Given the description of an element on the screen output the (x, y) to click on. 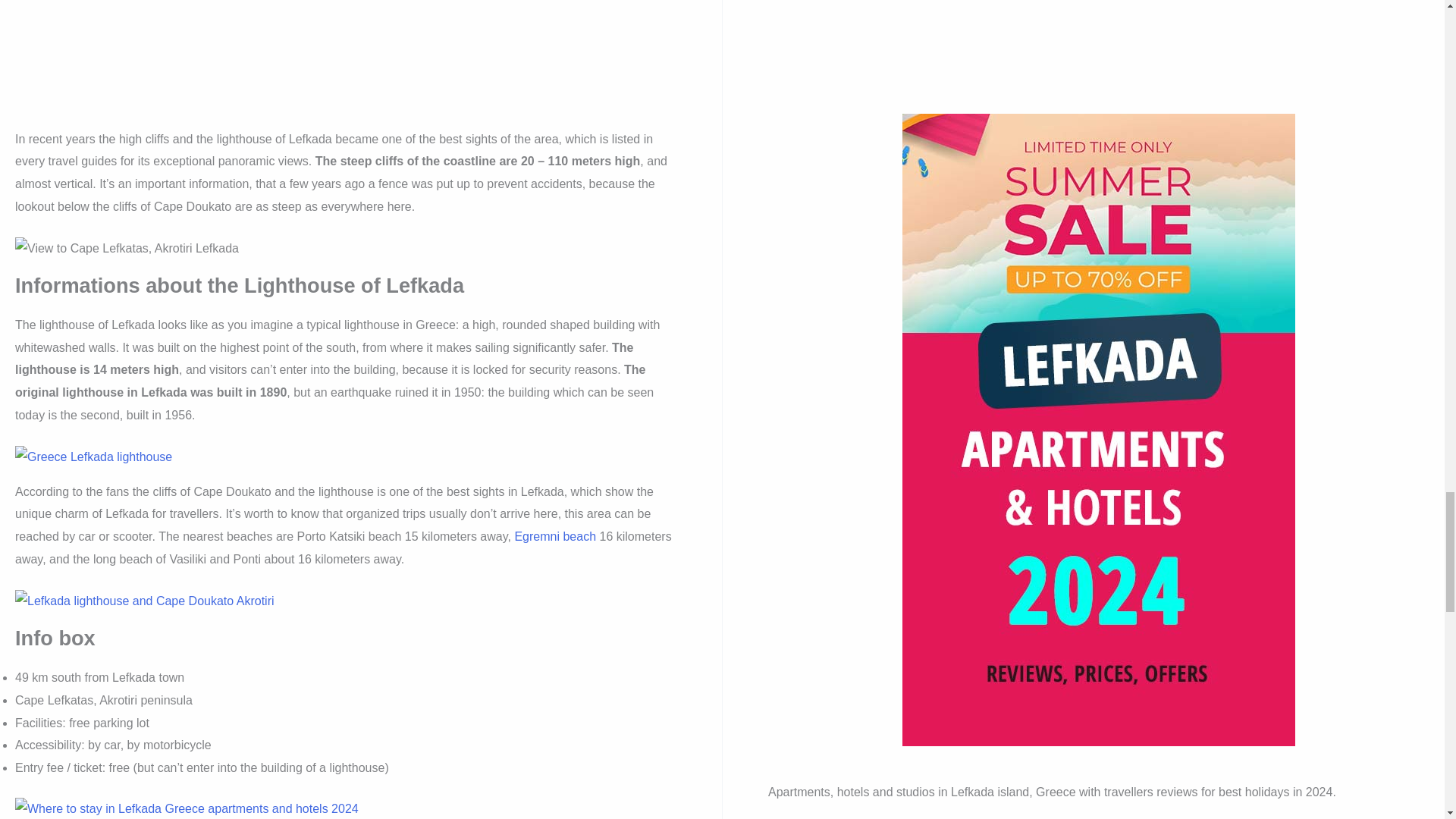
Lefkada lighthouse (92, 456)
View from the lighthouse (144, 600)
